Given the description of an element on the screen output the (x, y) to click on. 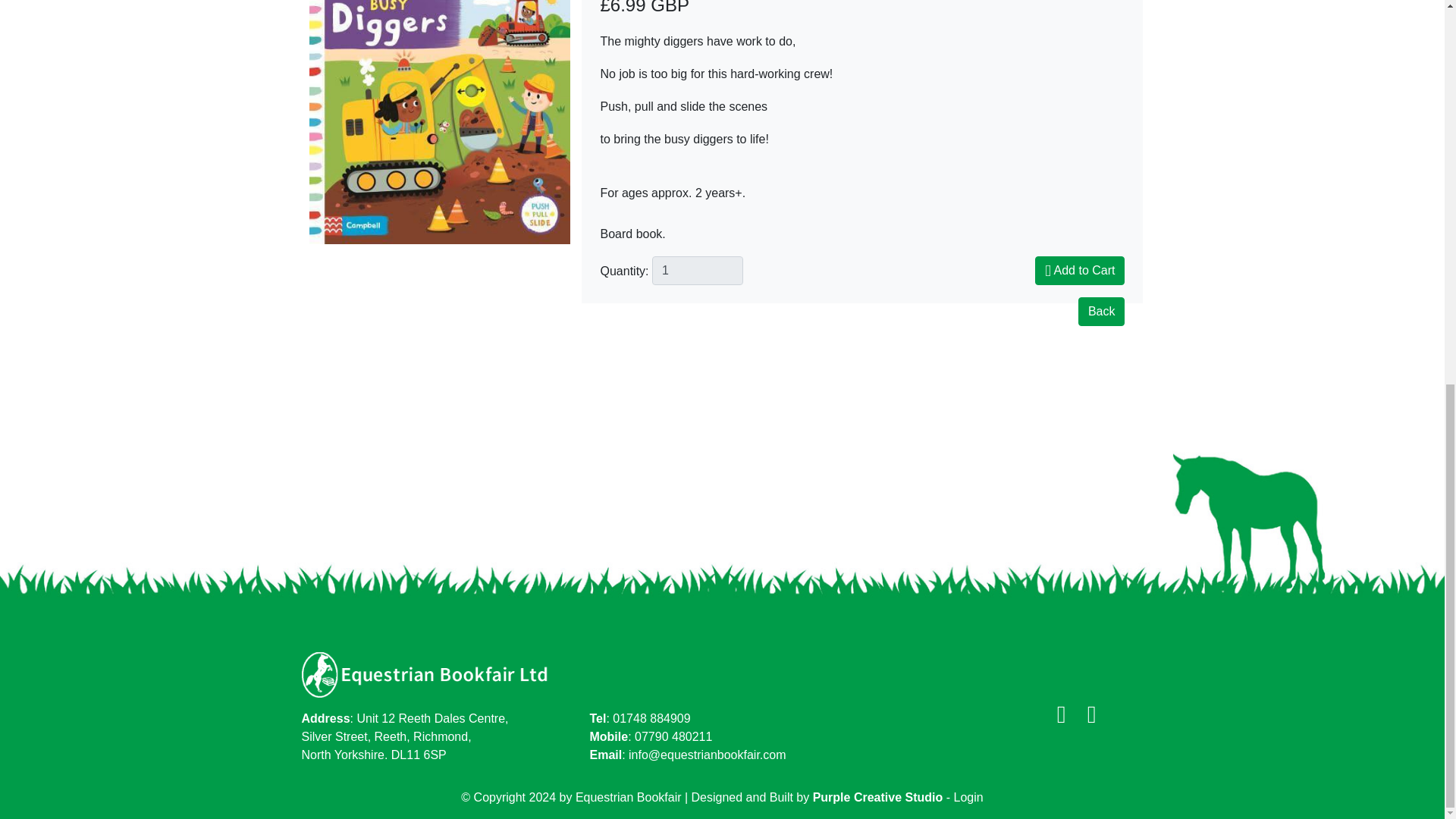
1 (697, 270)
Login (967, 797)
